Given the description of an element on the screen output the (x, y) to click on. 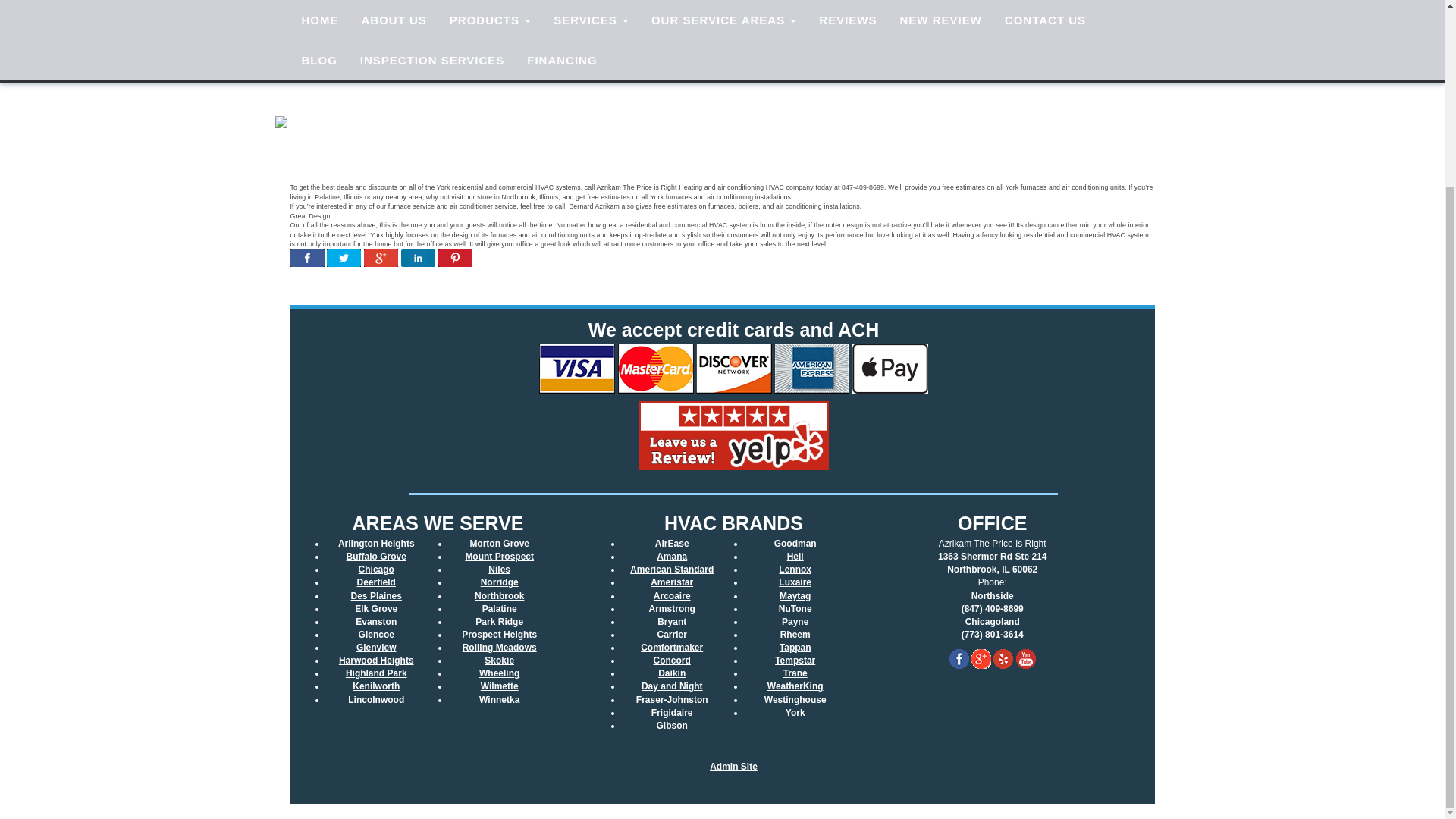
YouTube (1025, 659)
Yelp (1002, 659)
Share on LinkedIn (418, 260)
FaceBook (959, 659)
Pin it on Pinterest (454, 260)
Share on Facebook (306, 260)
Share on Google Plus (380, 260)
Share on Twitter (343, 260)
